Given the description of an element on the screen output the (x, y) to click on. 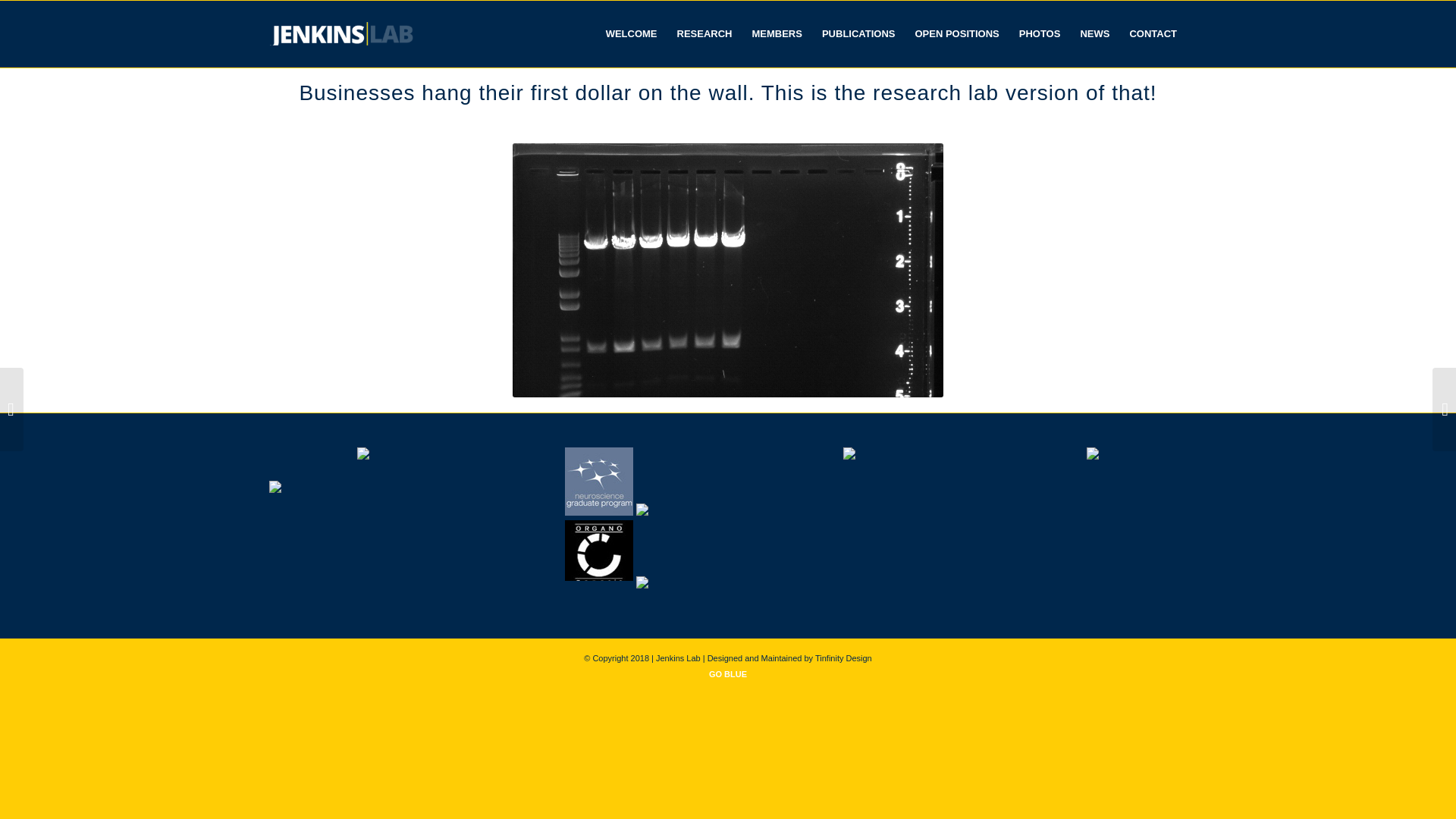
MEMBERS (775, 33)
WELCOME (630, 33)
CONTACT (1152, 33)
PUBLICATIONS (858, 33)
RESEARCH (704, 33)
OPEN POSITIONS (956, 33)
PHOTOS (1039, 33)
First-Data (727, 270)
